Given the description of an element on the screen output the (x, y) to click on. 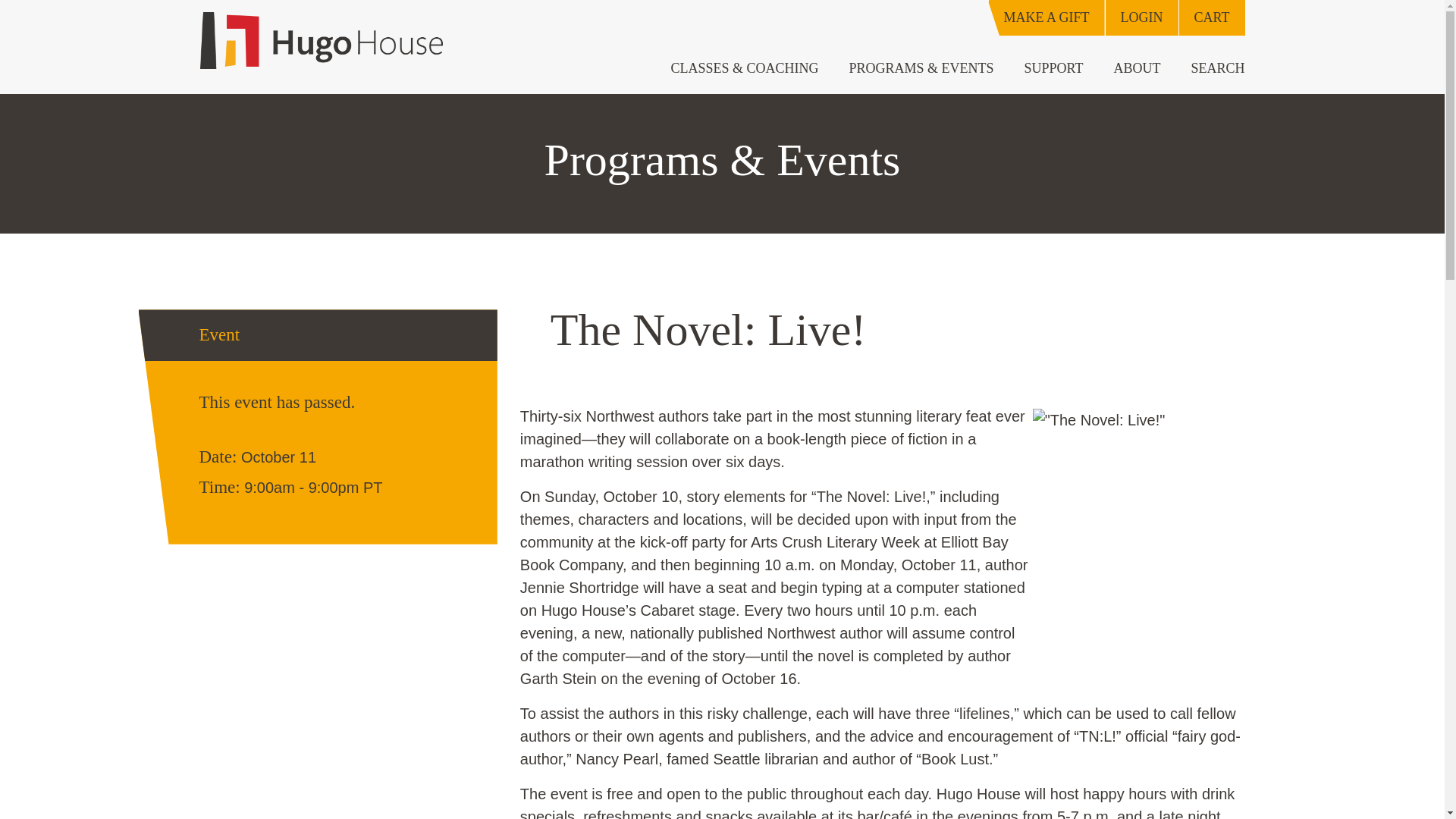
Login (1141, 18)
Make A Gift (1046, 18)
MAKE A GIFT (1046, 18)
ABOUT (1135, 68)
Cart (1210, 18)
CART (1210, 18)
SUPPORT (1054, 68)
LOGIN (1141, 18)
